Given the description of an element on the screen output the (x, y) to click on. 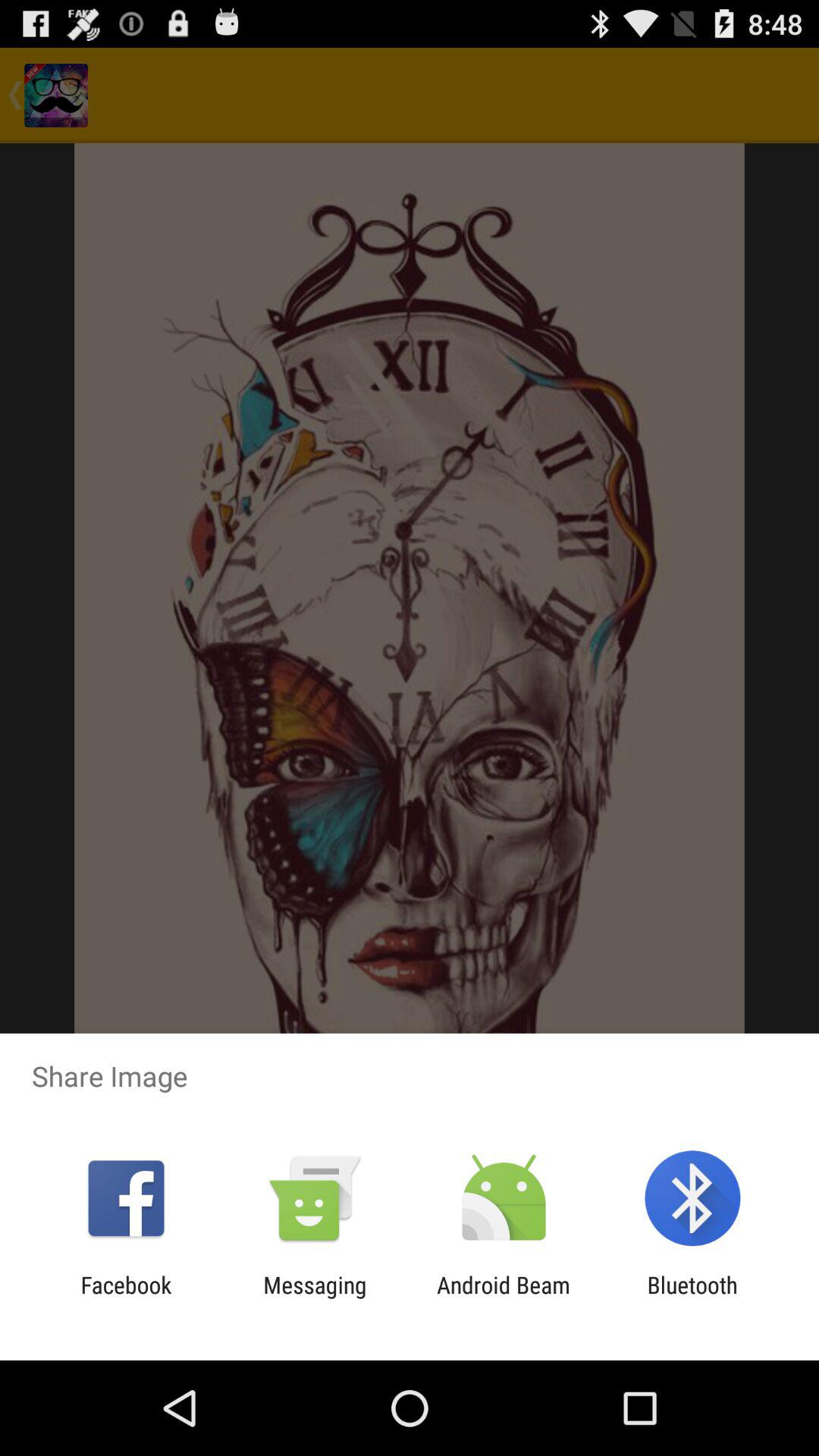
click item to the right of the android beam icon (692, 1298)
